Given the description of an element on the screen output the (x, y) to click on. 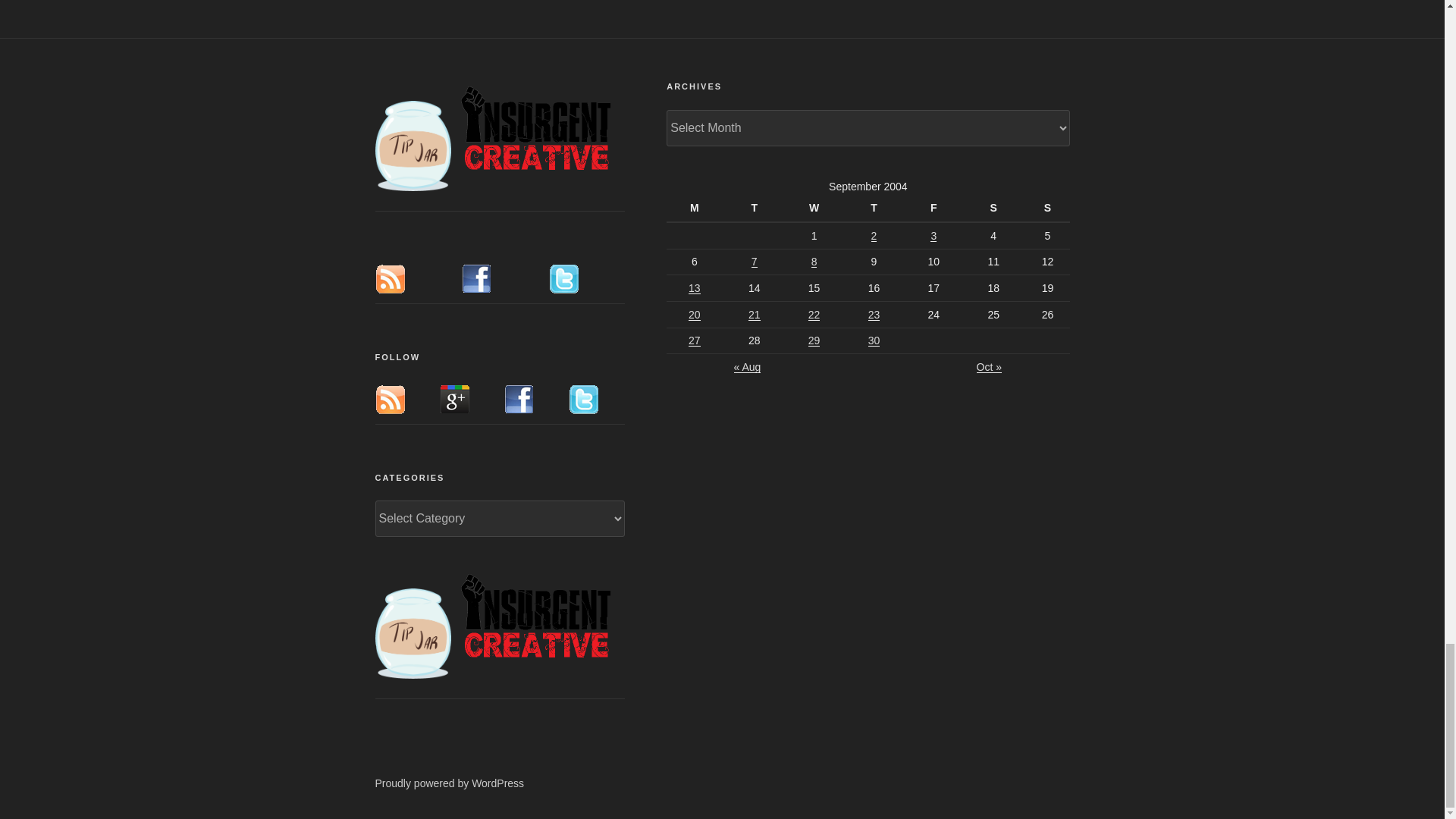
Tuesday (756, 207)
Friday (935, 207)
Thursday (875, 207)
Saturday (996, 207)
Sunday (1046, 207)
Wednesday (815, 207)
Monday (696, 207)
